Given the description of an element on the screen output the (x, y) to click on. 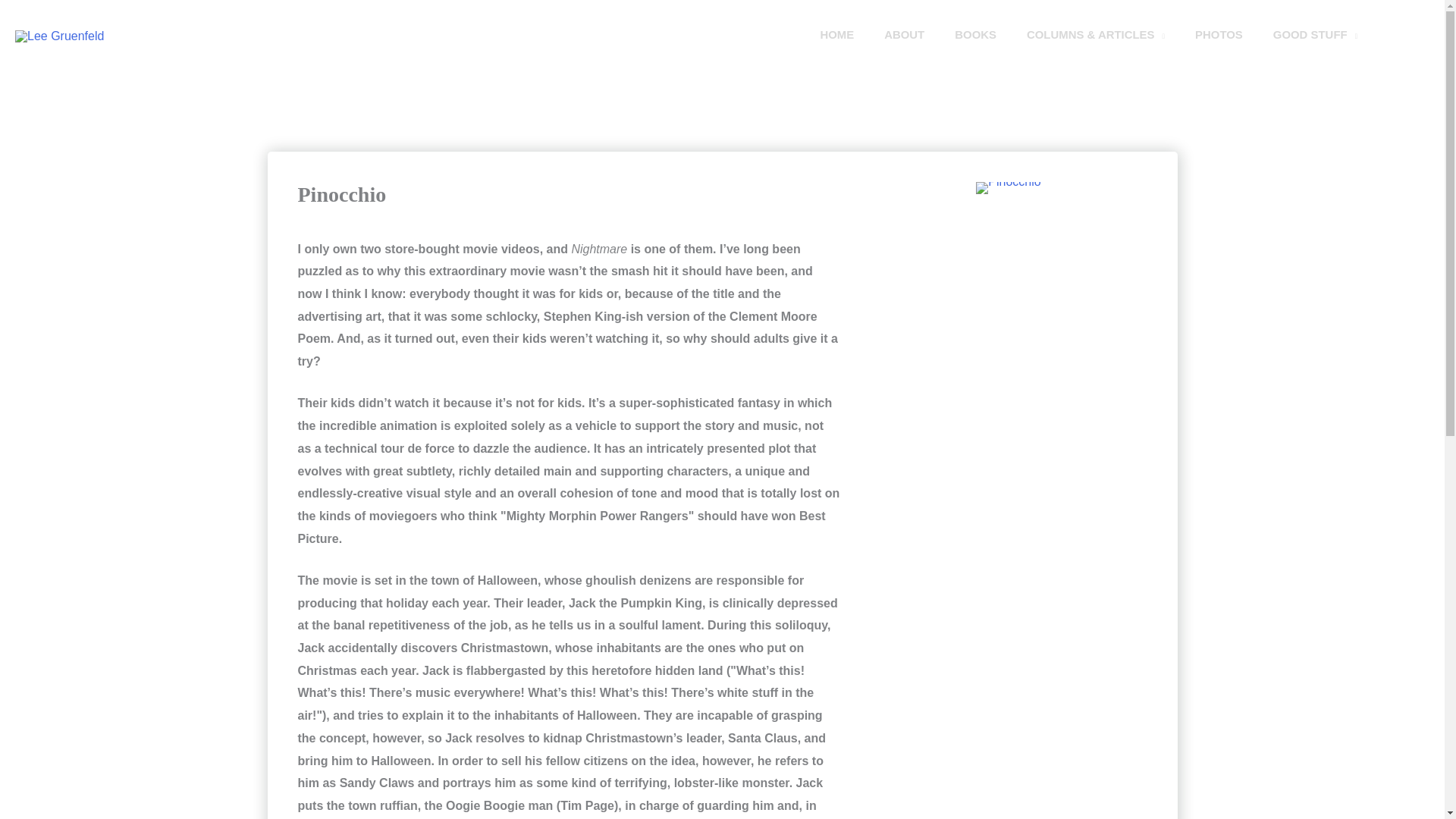
GOOD STUFF (1315, 34)
Pinocchio (1008, 187)
HOME (837, 34)
BOOKS (975, 34)
PHOTOS (1218, 34)
ABOUT (904, 34)
